Given the description of an element on the screen output the (x, y) to click on. 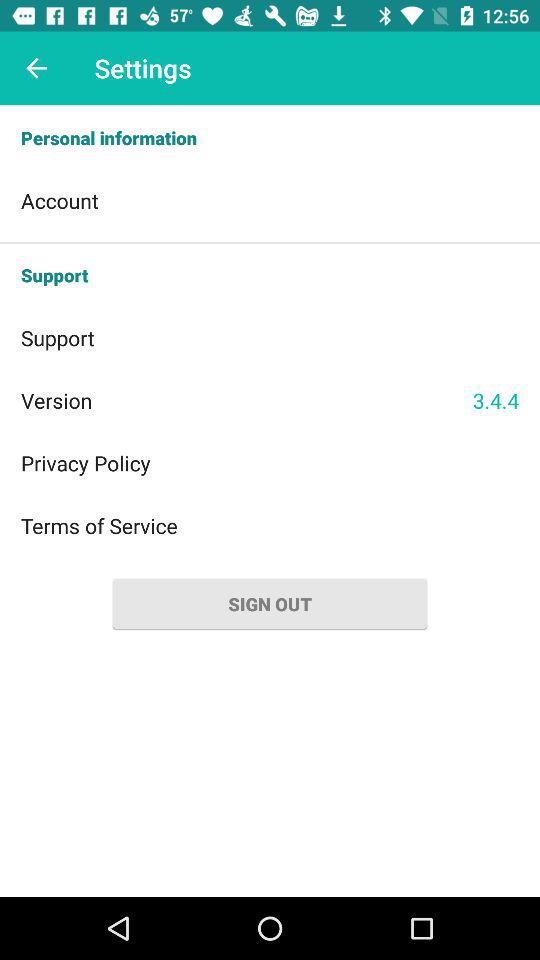
turn off the icon above sign out item (270, 525)
